Given the description of an element on the screen output the (x, y) to click on. 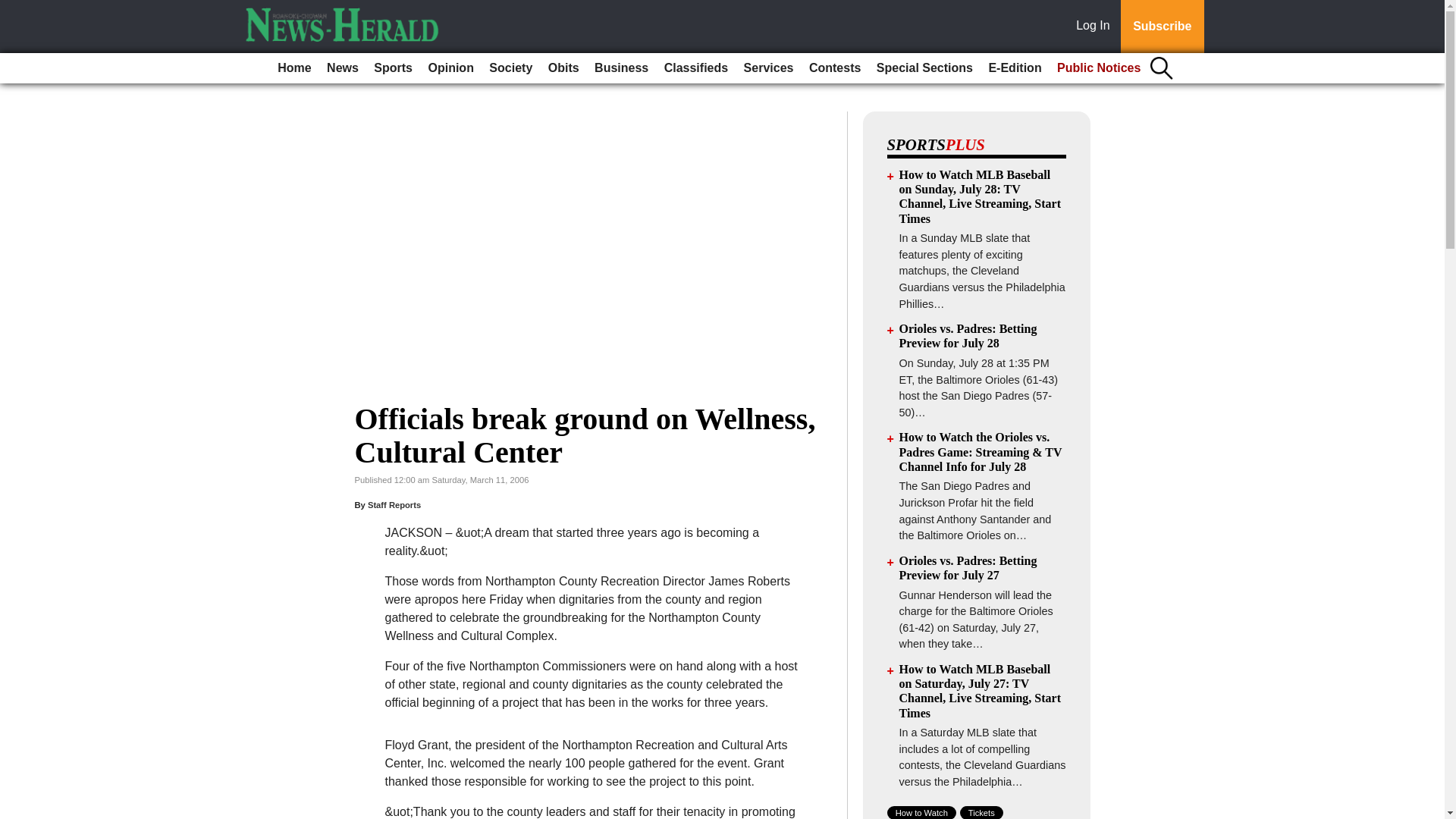
Home (293, 68)
News (342, 68)
Special Sections (924, 68)
Subscribe (1162, 26)
Public Notices (1099, 68)
Opinion (450, 68)
Staff Reports (394, 504)
Log In (1095, 26)
Go (13, 9)
Business (620, 68)
Sports (393, 68)
Obits (563, 68)
E-Edition (1013, 68)
Society (510, 68)
